Given the description of an element on the screen output the (x, y) to click on. 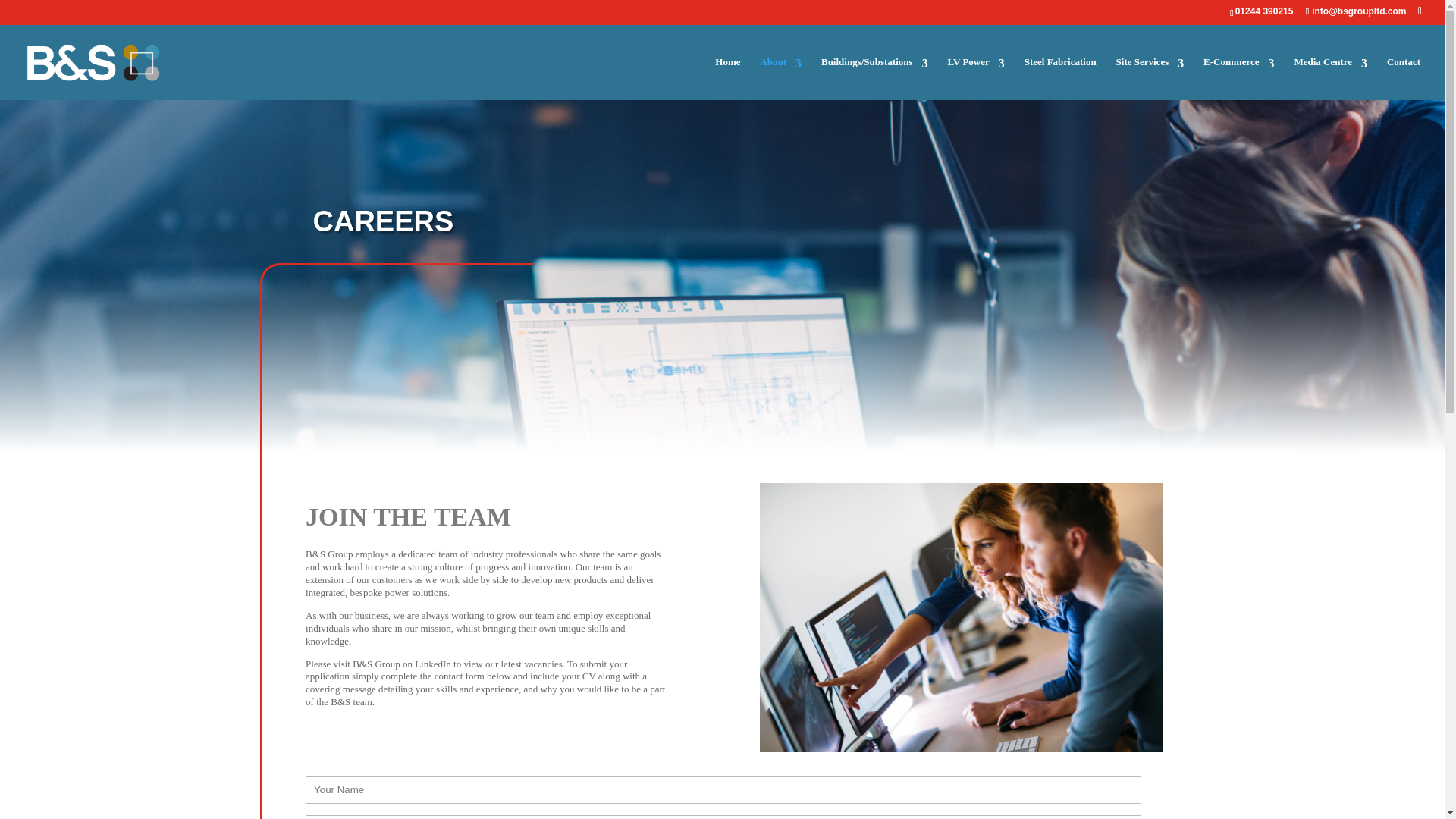
LV Power (975, 77)
Site Services (1150, 77)
Media Centre (1330, 77)
About (781, 77)
Steel Fabrication (1060, 77)
E-Commerce (1239, 77)
